Given the description of an element on the screen output the (x, y) to click on. 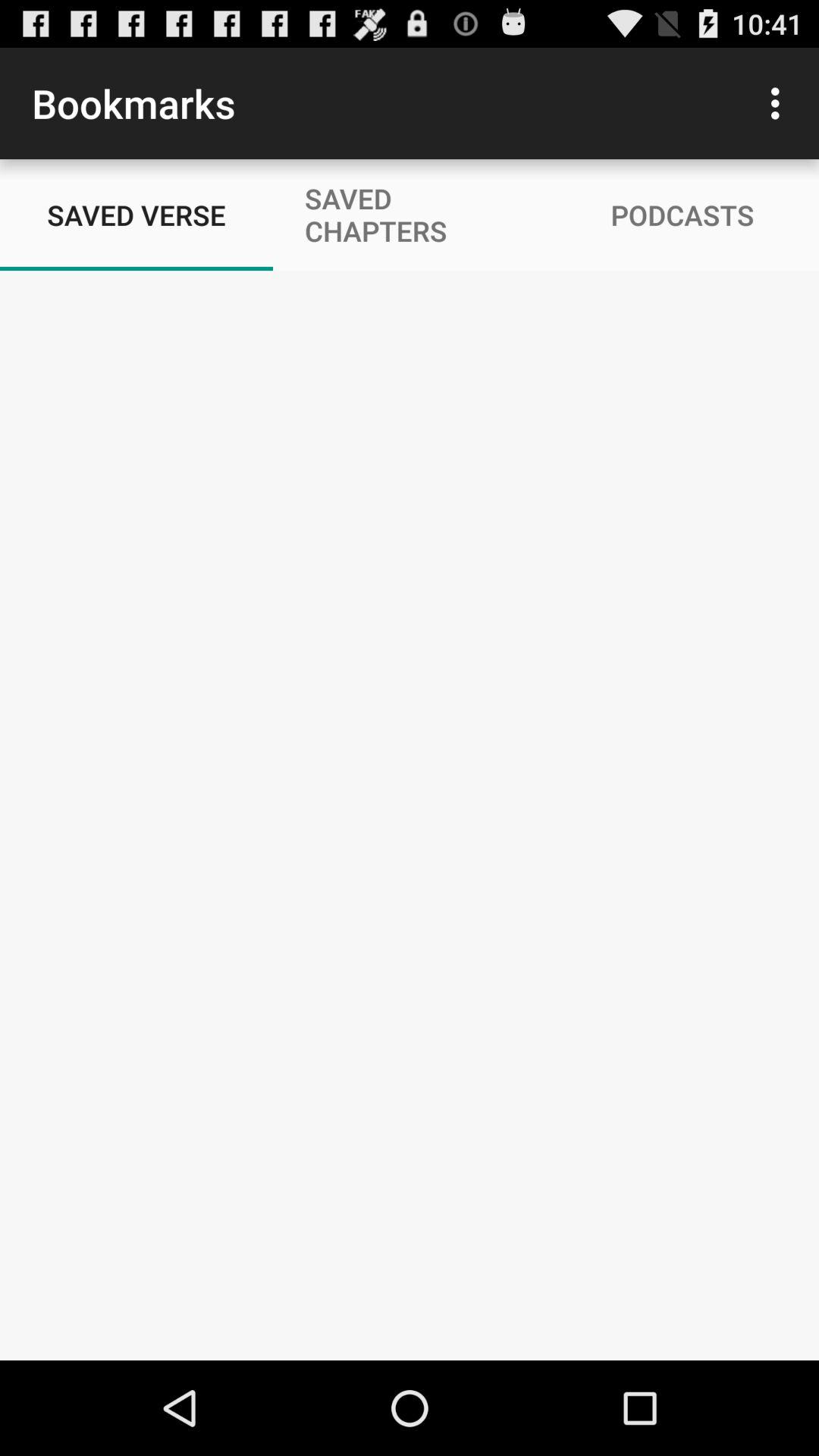
open icon below saved verse item (409, 1310)
